Given the description of an element on the screen output the (x, y) to click on. 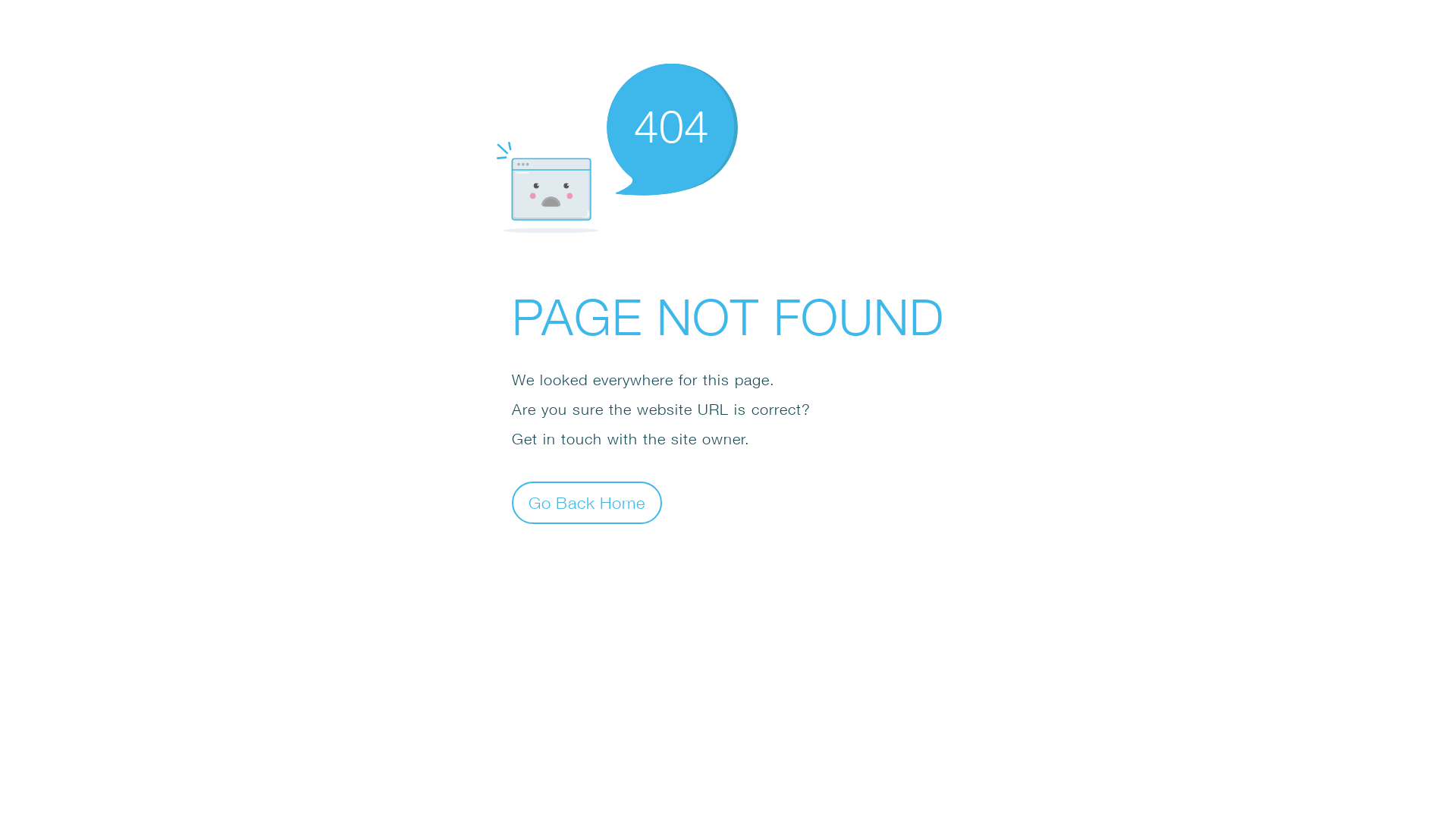
Go Back Home Element type: text (586, 502)
